Given the description of an element on the screen output the (x, y) to click on. 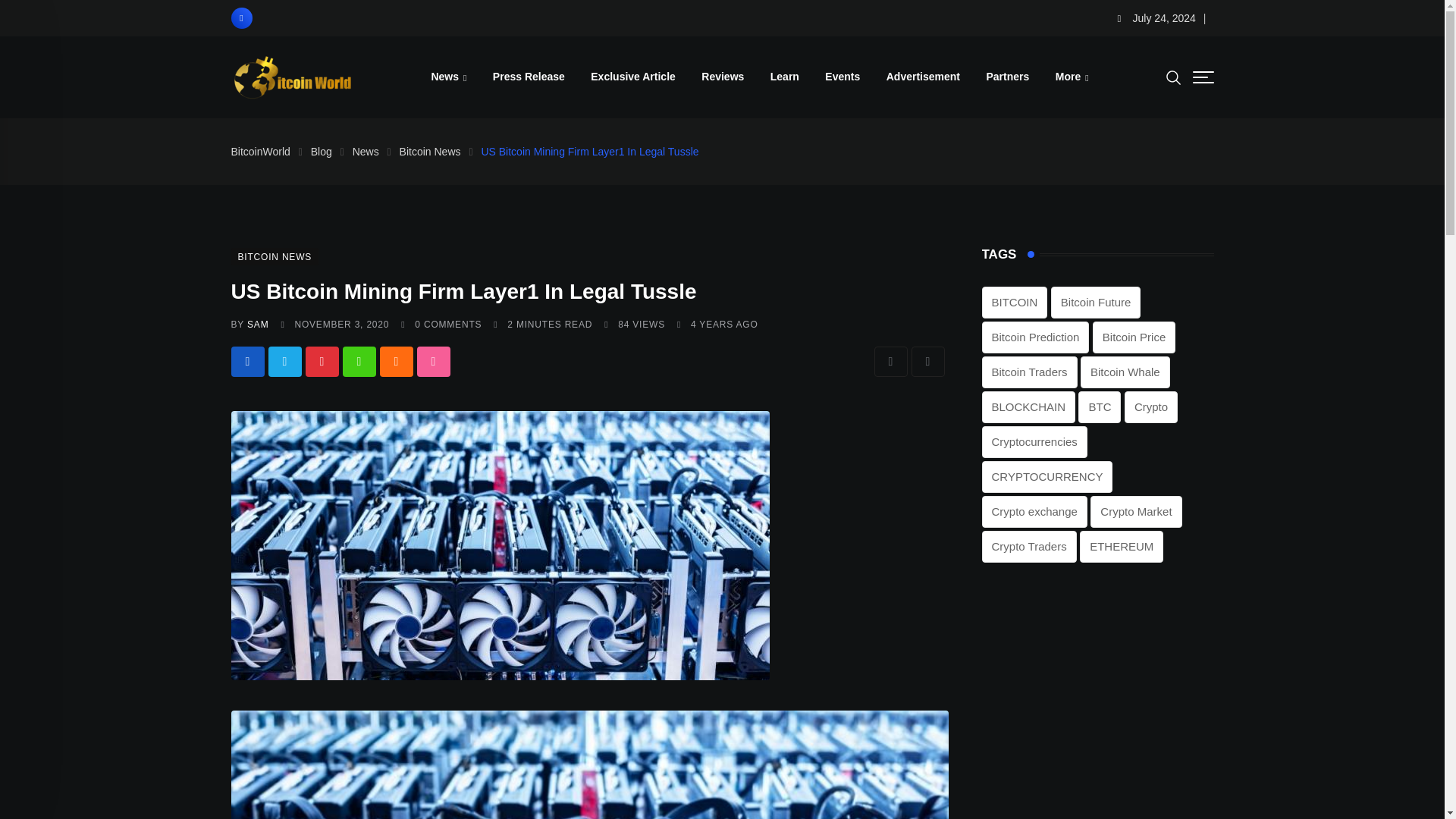
Go to Blog. (321, 151)
Exclusive Article (633, 76)
Go to the Bitcoin News Category archives. (429, 151)
Press Release (528, 76)
Go to the News Category archives. (365, 151)
Advertisement (923, 76)
Posts by sam (257, 324)
Go to BitcoinWorld. (259, 151)
Search (1173, 76)
